Given the description of an element on the screen output the (x, y) to click on. 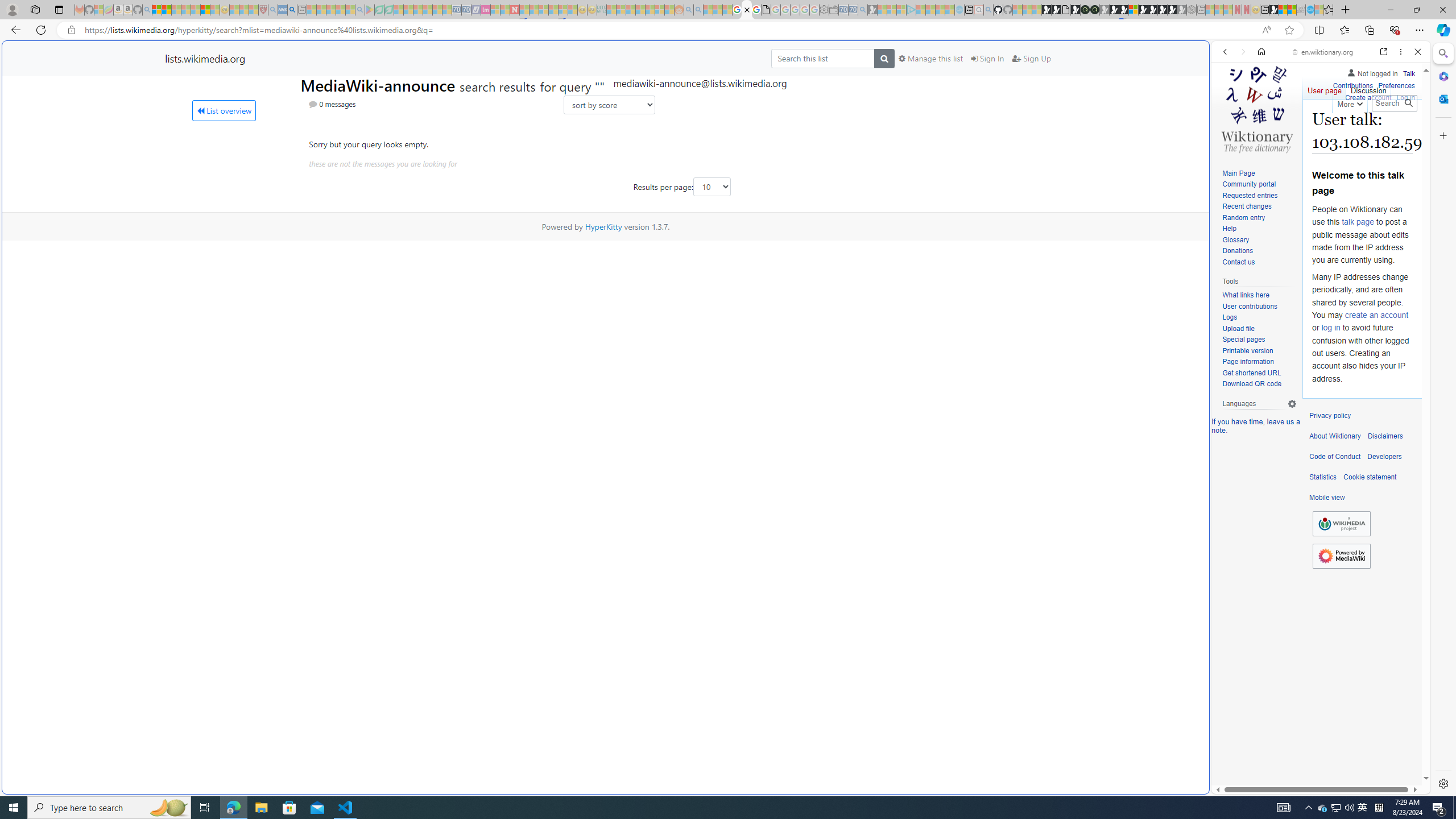
Jobs - lastminute.com Investor Portal - Sleeping (485, 9)
Local - MSN - Sleeping (253, 9)
Requested entries (1249, 194)
Wikimedia Foundation (1341, 523)
Developers (1384, 456)
